Given the description of an element on the screen output the (x, y) to click on. 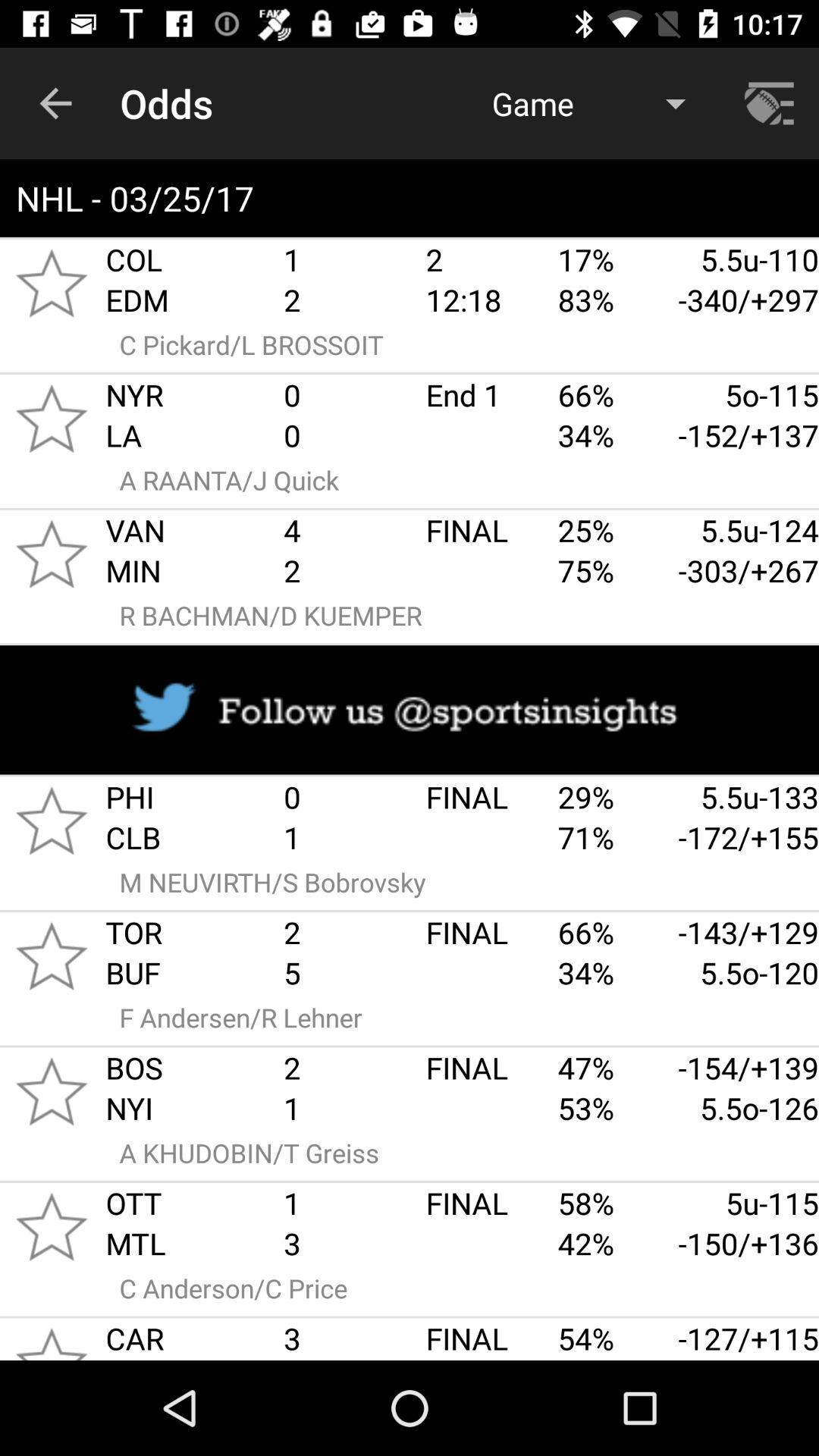
go to rating (51, 283)
